Given the description of an element on the screen output the (x, y) to click on. 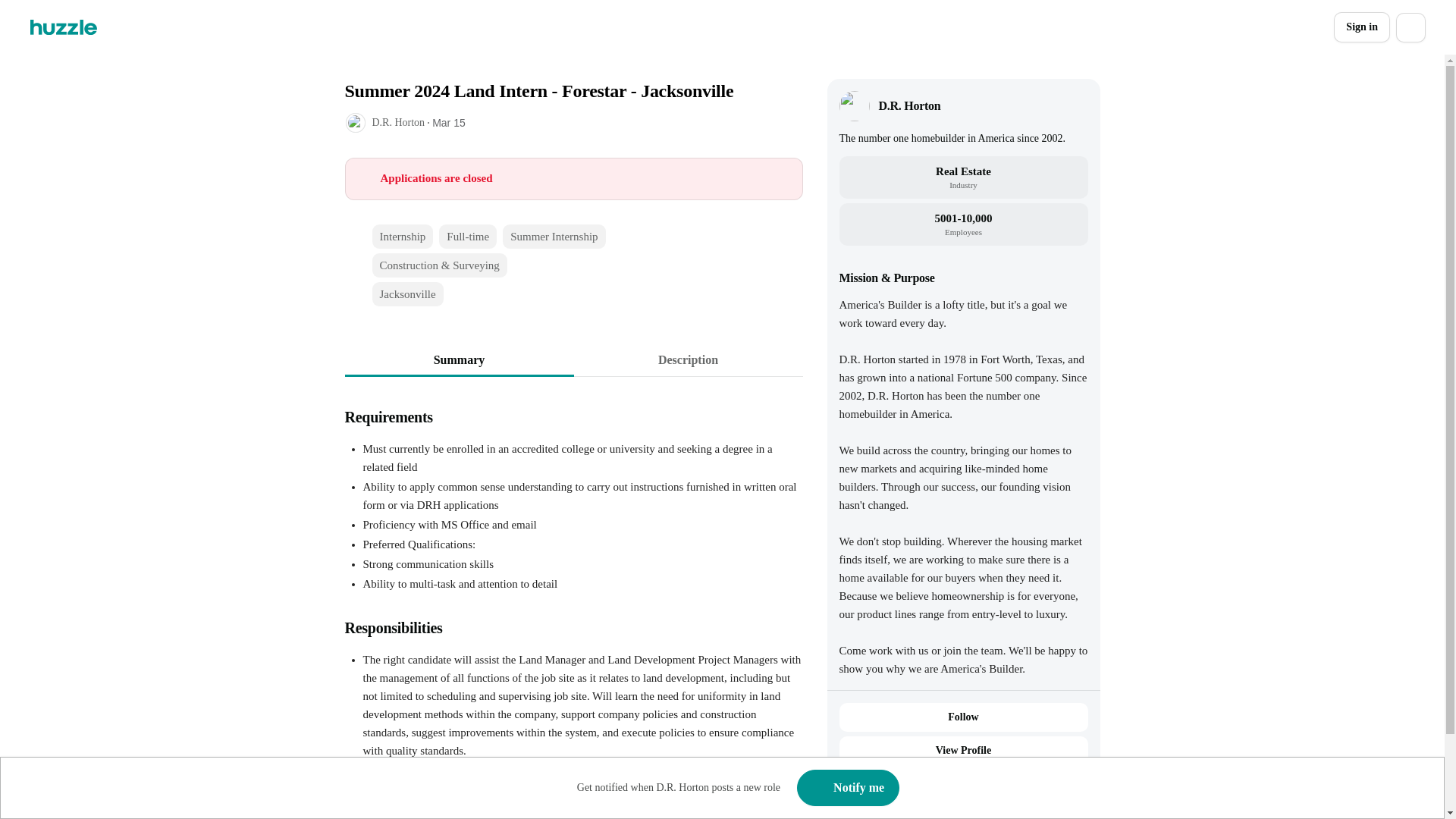
Follow (962, 717)
D.R. Horton (908, 105)
Description (687, 359)
D.R. Horton (398, 122)
View Profile (962, 750)
Website (945, 788)
Sign in (1361, 27)
Notify me (847, 787)
Summary (458, 359)
